Given the description of an element on the screen output the (x, y) to click on. 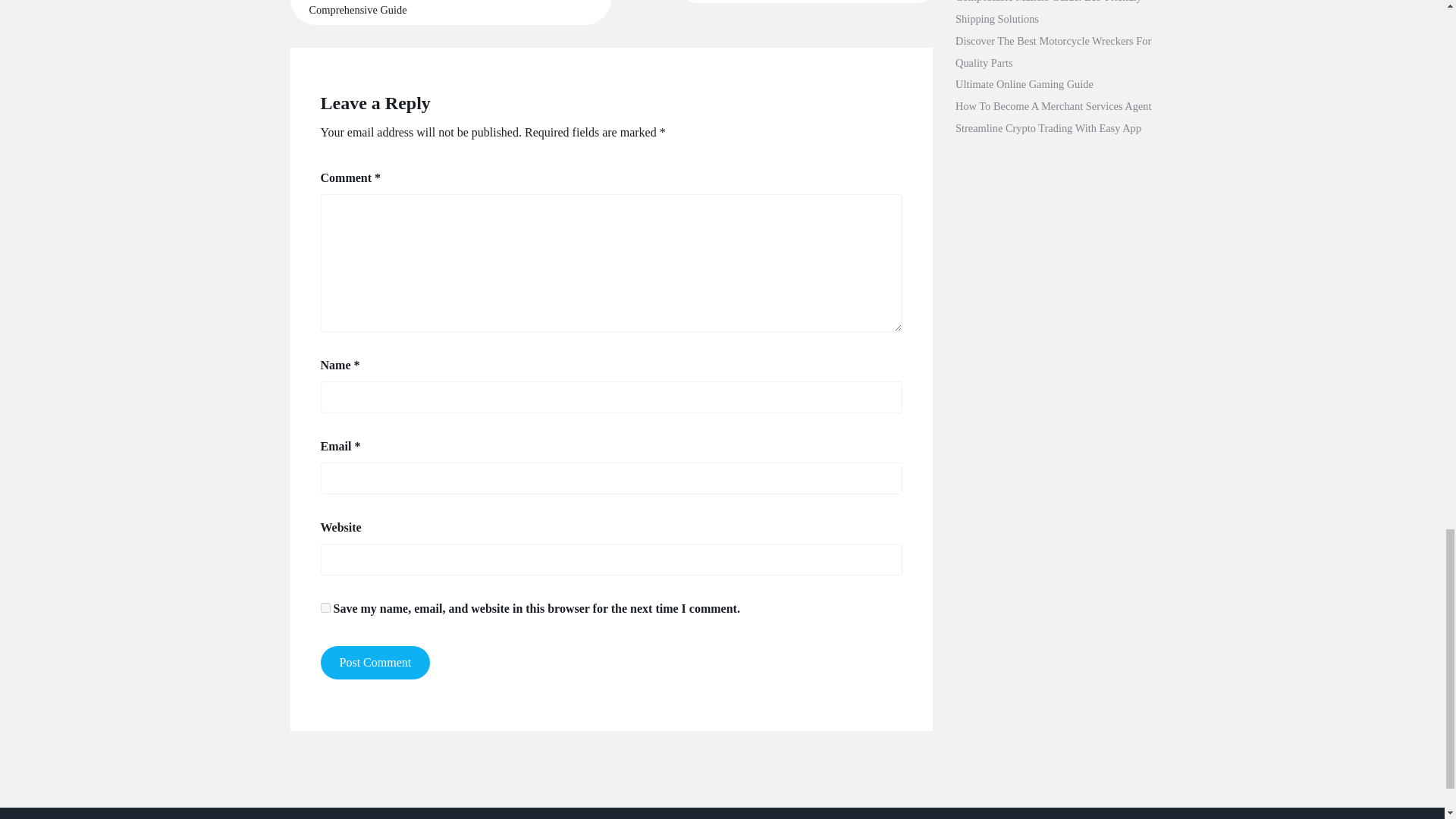
Post Comment (374, 662)
yes (325, 607)
Discover The Best Motorcycle Wreckers For Quality Parts (1053, 51)
How To Become A Merchant Services Agent (1053, 105)
Ultimate Online Gaming Guide (1024, 83)
Top Tips For Roofing Maintenance And Repair (807, 1)
Post Comment (374, 662)
Compostable Mailers Guide: Eco-Friendly Shipping Solutions (1048, 12)
